Given the description of an element on the screen output the (x, y) to click on. 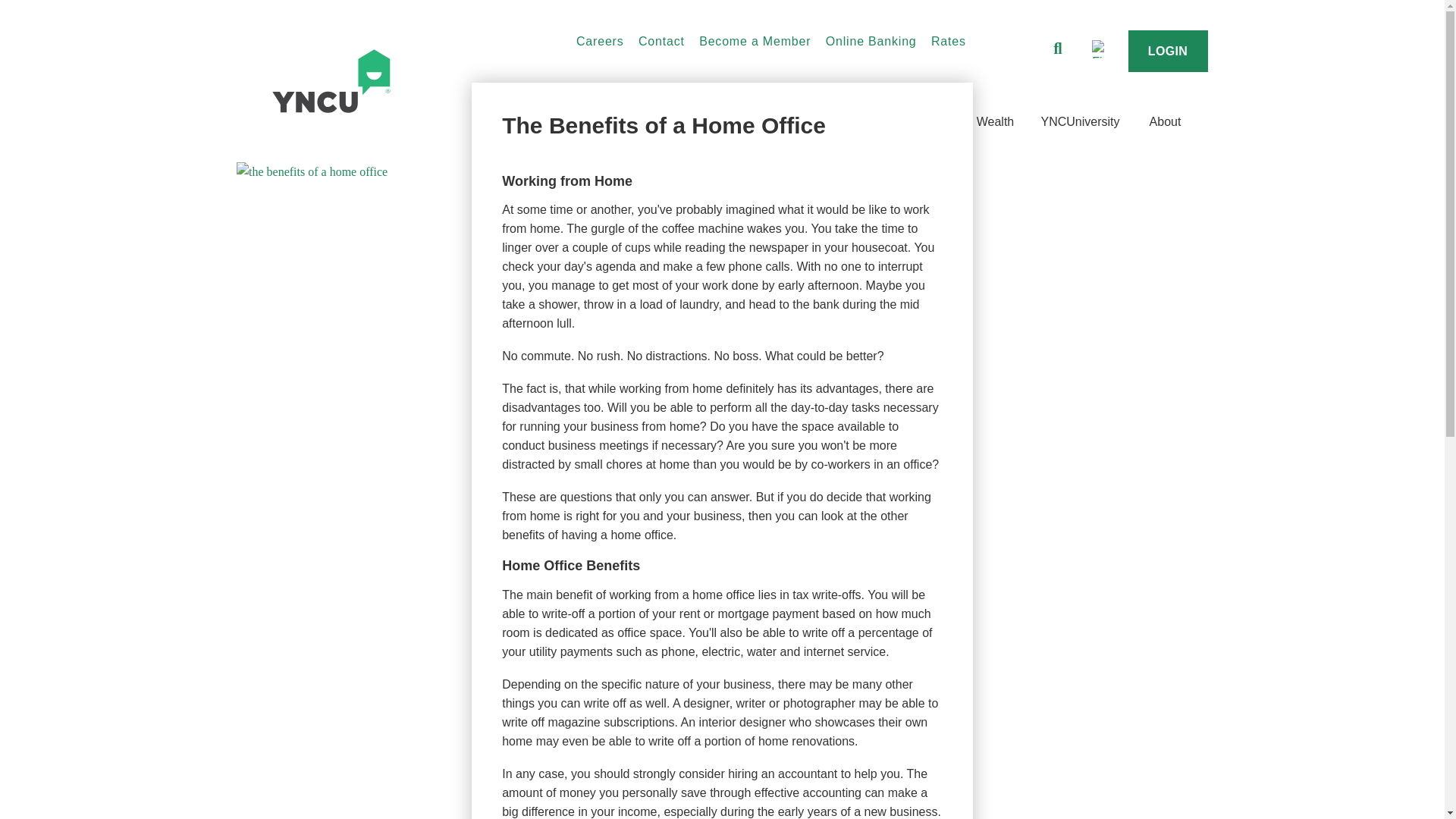
Online Banking (871, 41)
Rates (948, 41)
LOGIN (1168, 51)
link, Find a branch (1099, 47)
Contact (661, 41)
Careers (600, 41)
Become a Member (754, 41)
home (330, 80)
home (376, 80)
